Given the description of an element on the screen output the (x, y) to click on. 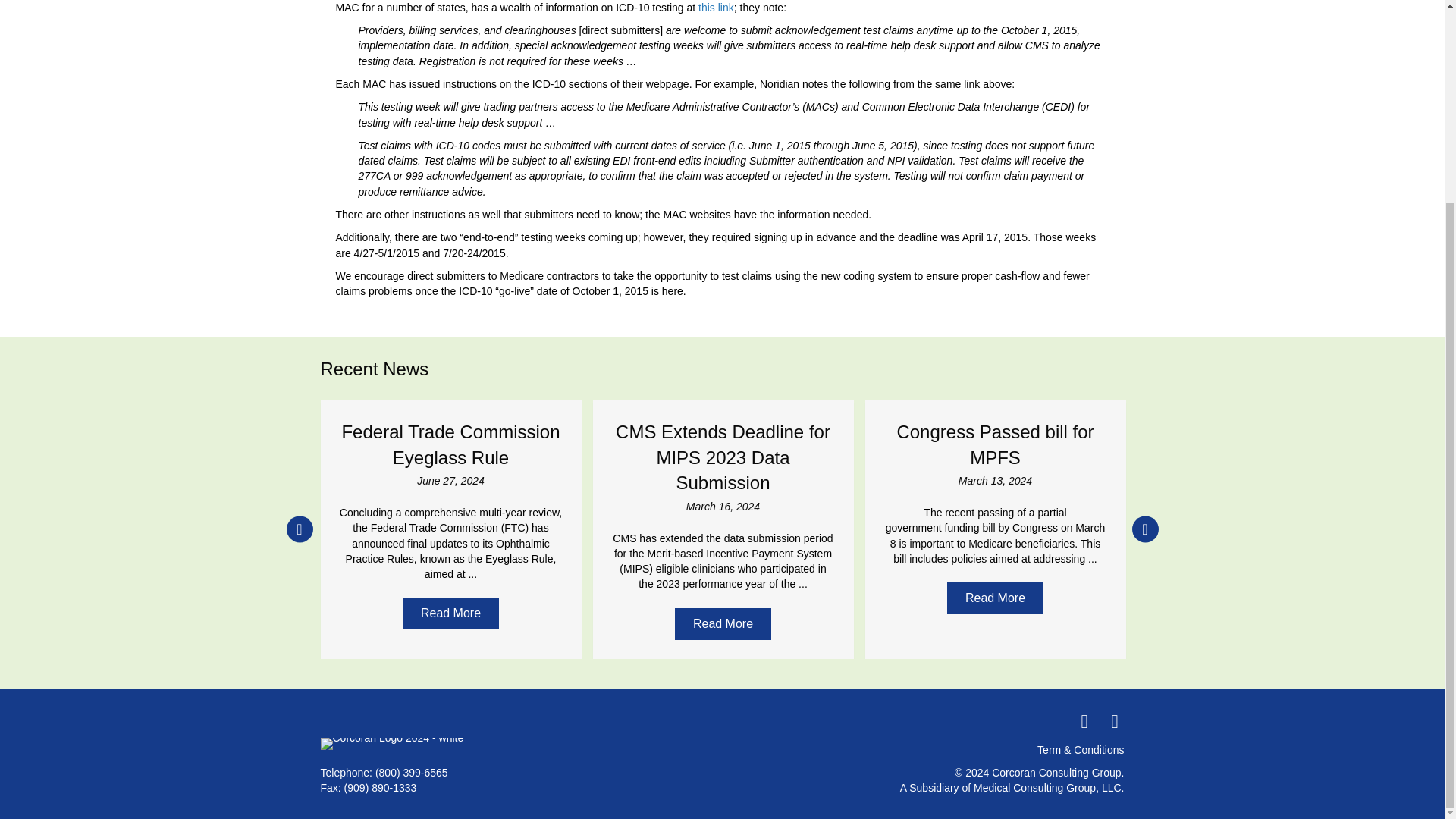
Click Here (451, 613)
Click Here (723, 623)
Federal Trade Commission Eyeglass Rule (449, 444)
Congress Passed bill for MPFS (994, 444)
CMS Extends Deadline for MIPS 2023 Data Submission (722, 457)
